Given the description of an element on the screen output the (x, y) to click on. 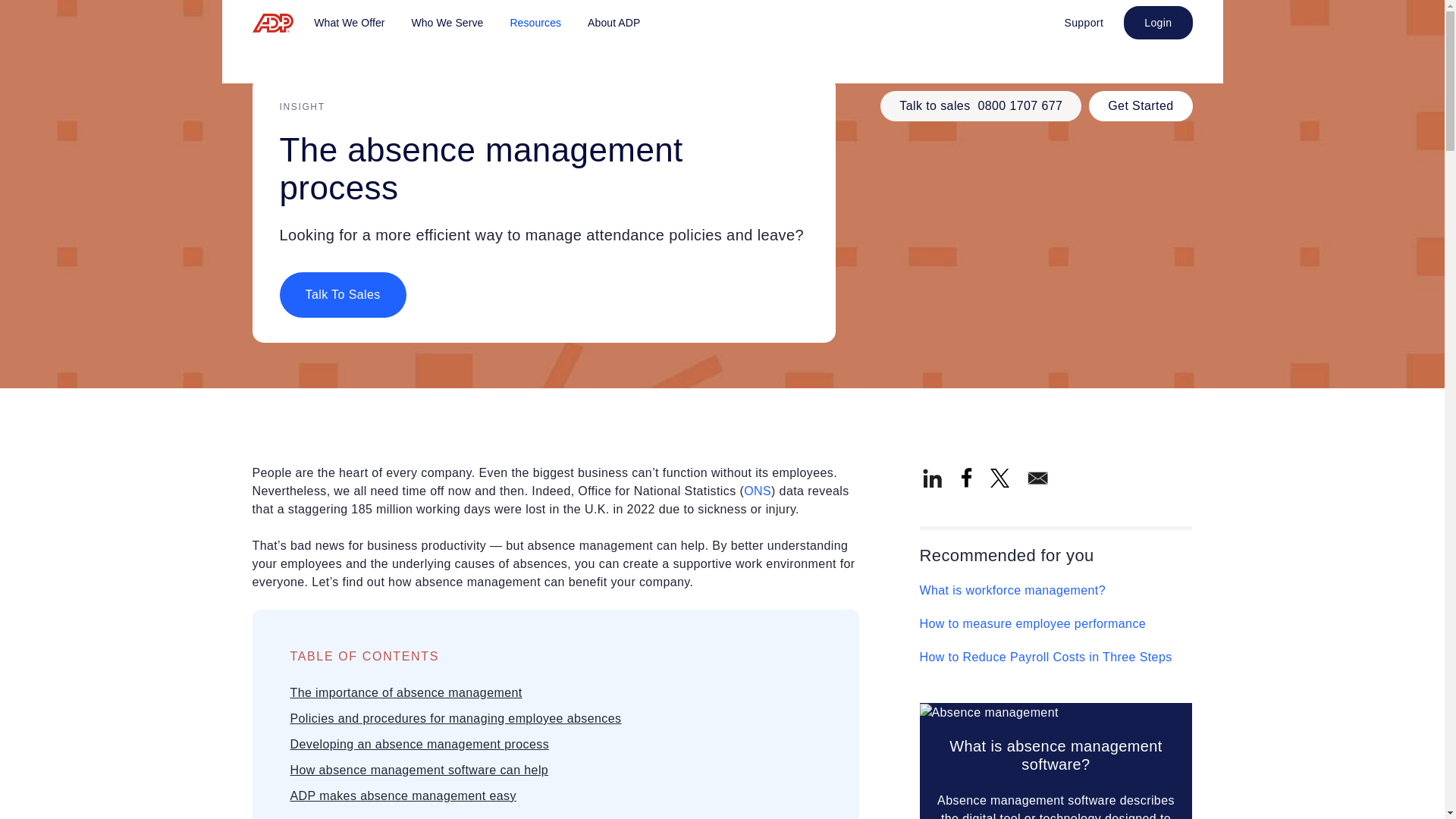
The importance of absence management (405, 692)
What We Offer (349, 22)
Policies and procedures for managing employee absences (455, 717)
How absence management software can help (418, 769)
Developing an absence management process (418, 744)
ADP makes absence management easy (402, 795)
